Given the description of an element on the screen output the (x, y) to click on. 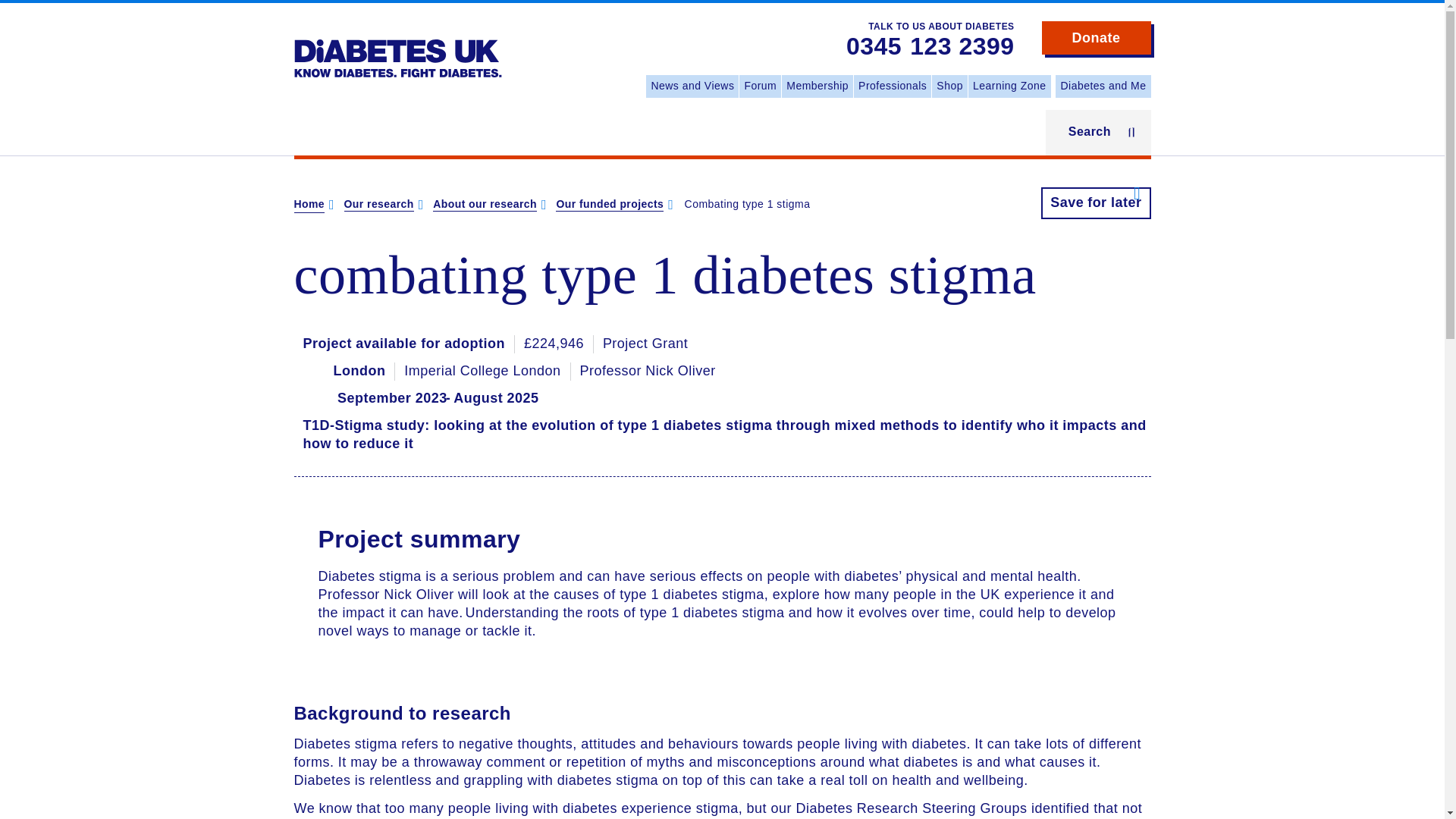
Search (1098, 132)
Forum (759, 86)
0345123 2399 (929, 46)
Diabetes and Me (1102, 86)
News and Views (692, 86)
Donate (1096, 37)
Professionals (892, 86)
Home (398, 47)
Our research (378, 204)
Home (309, 204)
